Given the description of an element on the screen output the (x, y) to click on. 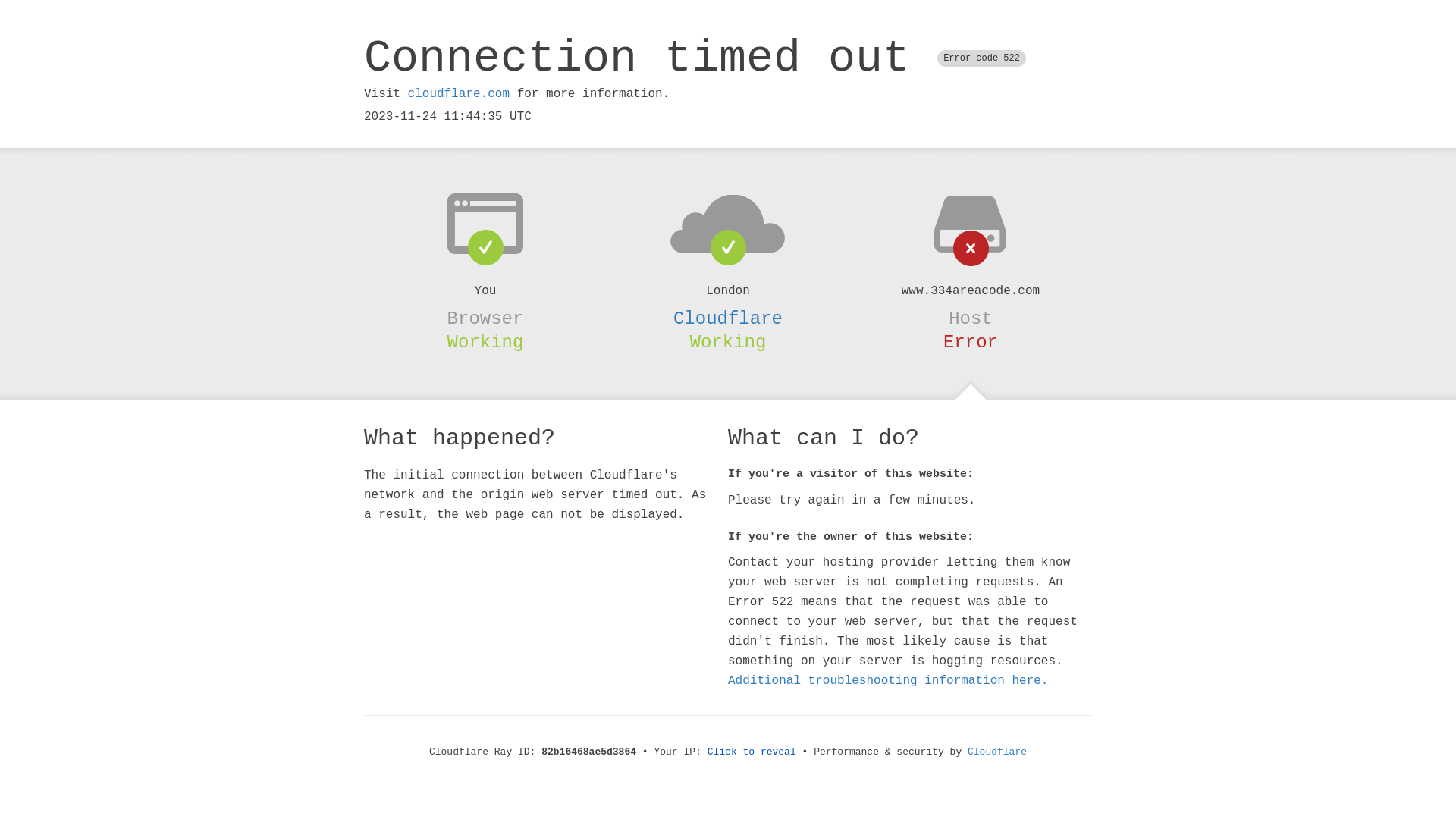
cloudflare.com Element type: text (458, 93)
Cloudflare Element type: text (996, 751)
Cloudflare Element type: text (727, 318)
Additional troubleshooting information here. Element type: text (888, 680)
Click to reveal Element type: text (751, 751)
